Given the description of an element on the screen output the (x, y) to click on. 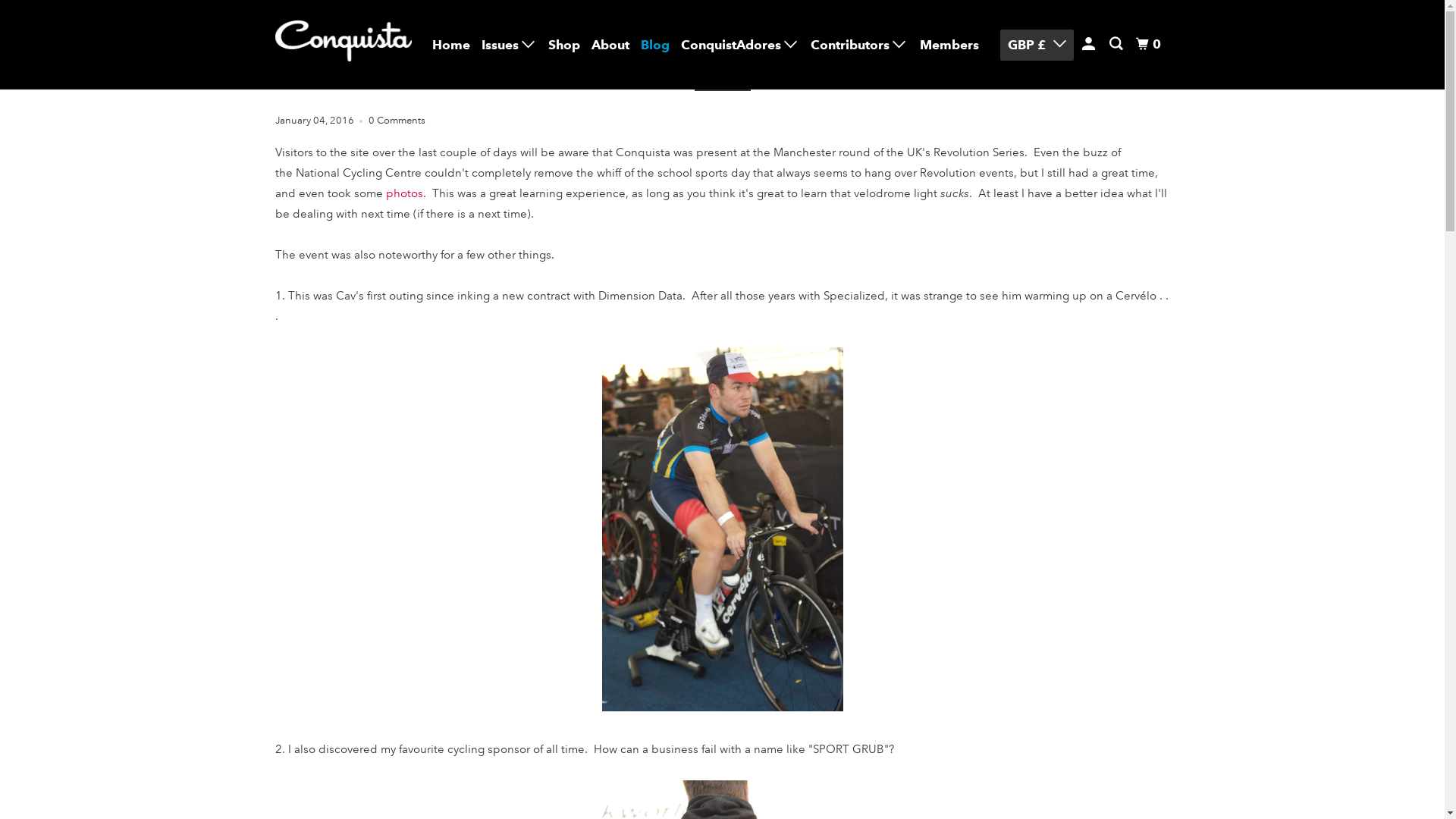
Blog Element type: text (654, 45)
Contributors Element type: text (858, 44)
Issues Element type: text (508, 44)
photos Element type: text (403, 193)
Search Element type: hover (1116, 44)
Members Element type: text (949, 45)
My Account  Element type: hover (1089, 44)
0 Comments Element type: text (396, 120)
Conquista Cycling Club Element type: hover (342, 44)
Shop Element type: text (564, 45)
ConquistAdores Element type: text (739, 44)
Home Element type: text (451, 45)
About Element type: text (610, 45)
0 Element type: text (1149, 44)
